Given the description of an element on the screen output the (x, y) to click on. 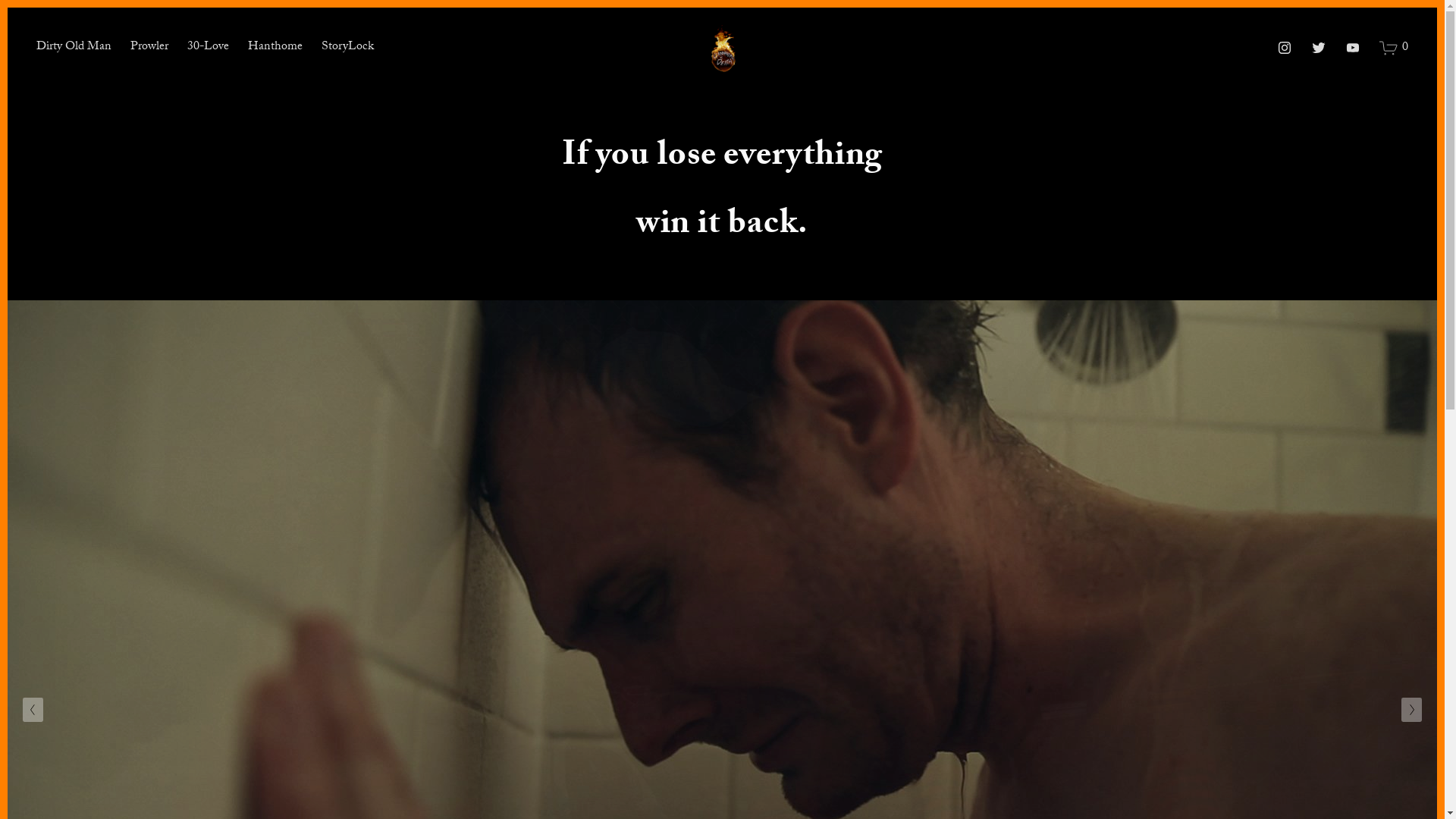
StoryLock Element type: text (347, 47)
Dirty Old Man Element type: text (73, 47)
Hanthome Element type: text (274, 47)
Prowler Element type: text (149, 47)
30-Love Element type: text (208, 47)
0 Element type: text (1393, 47)
